Given the description of an element on the screen output the (x, y) to click on. 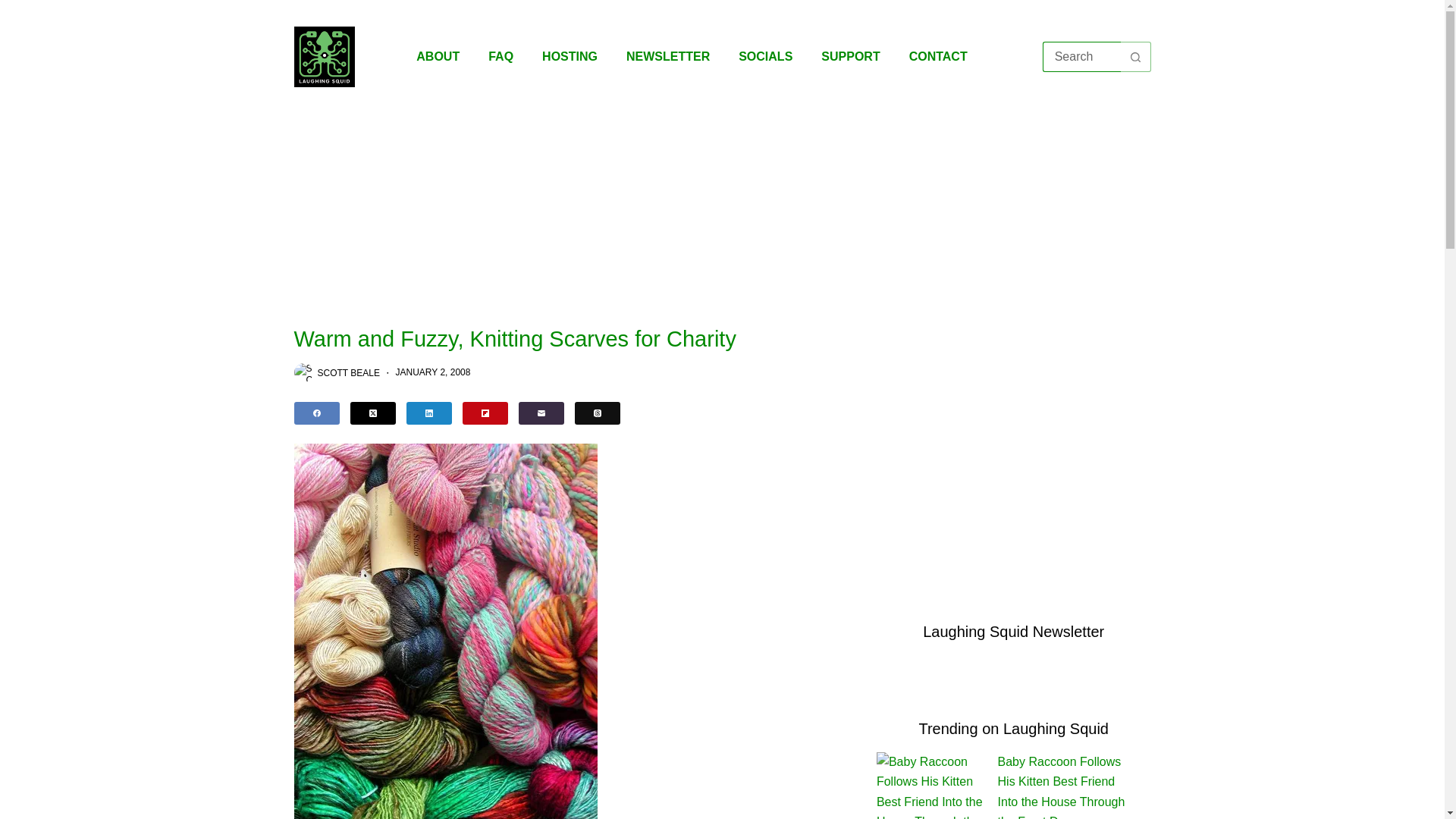
Skip to content (15, 7)
SCOTT BEALE (347, 371)
Posts by Scott Beale (347, 371)
Warm and Fuzzy, Knitting Scarves for Charity (572, 338)
Search for... (1081, 56)
NEWSLETTER (667, 56)
